Given the description of an element on the screen output the (x, y) to click on. 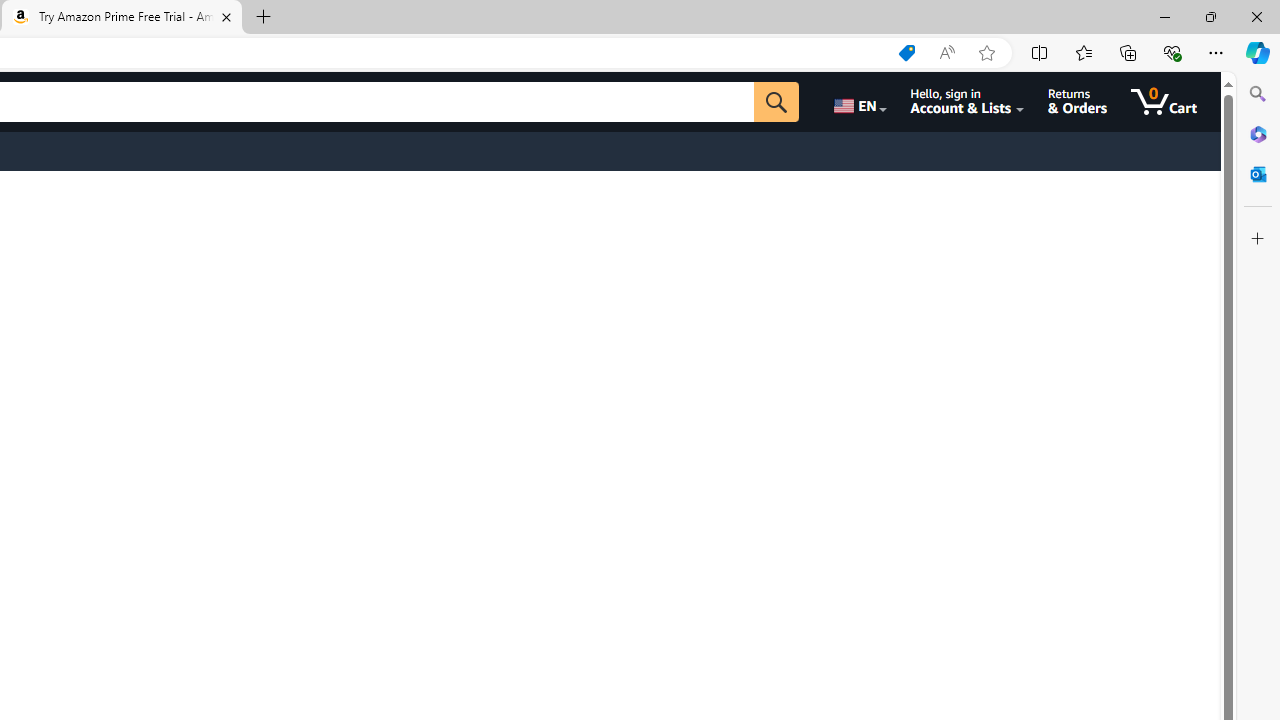
Choose a language for shopping. (858, 101)
0 items in cart (1163, 101)
